Given the description of an element on the screen output the (x, y) to click on. 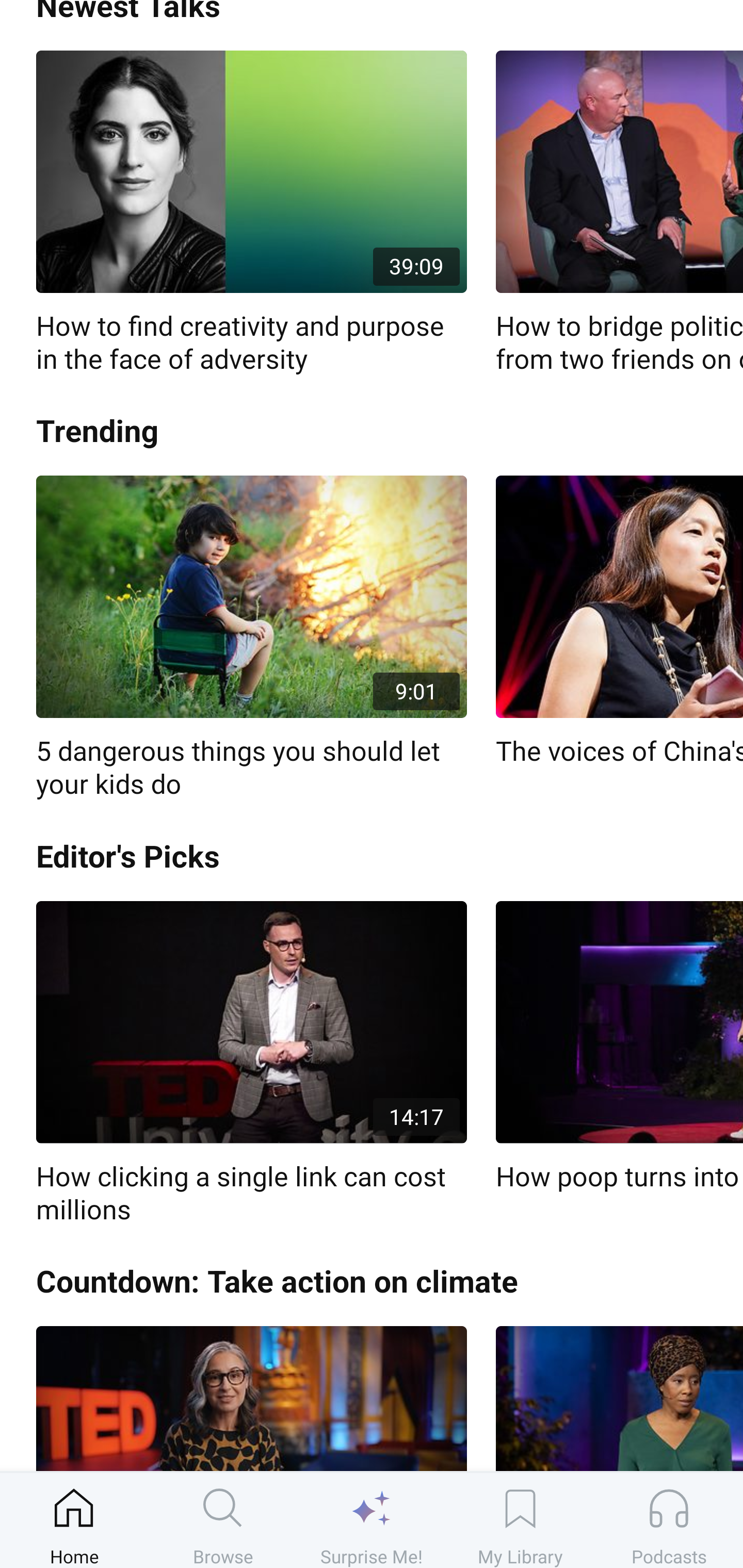
The voices of China's workers (619, 621)
14:17 How clicking a single link can cost millions (251, 1063)
How poop turns into forests (619, 1047)
Home (74, 1520)
Browse (222, 1520)
Surprise Me! (371, 1520)
My Library (519, 1520)
Podcasts (668, 1520)
